Given the description of an element on the screen output the (x, y) to click on. 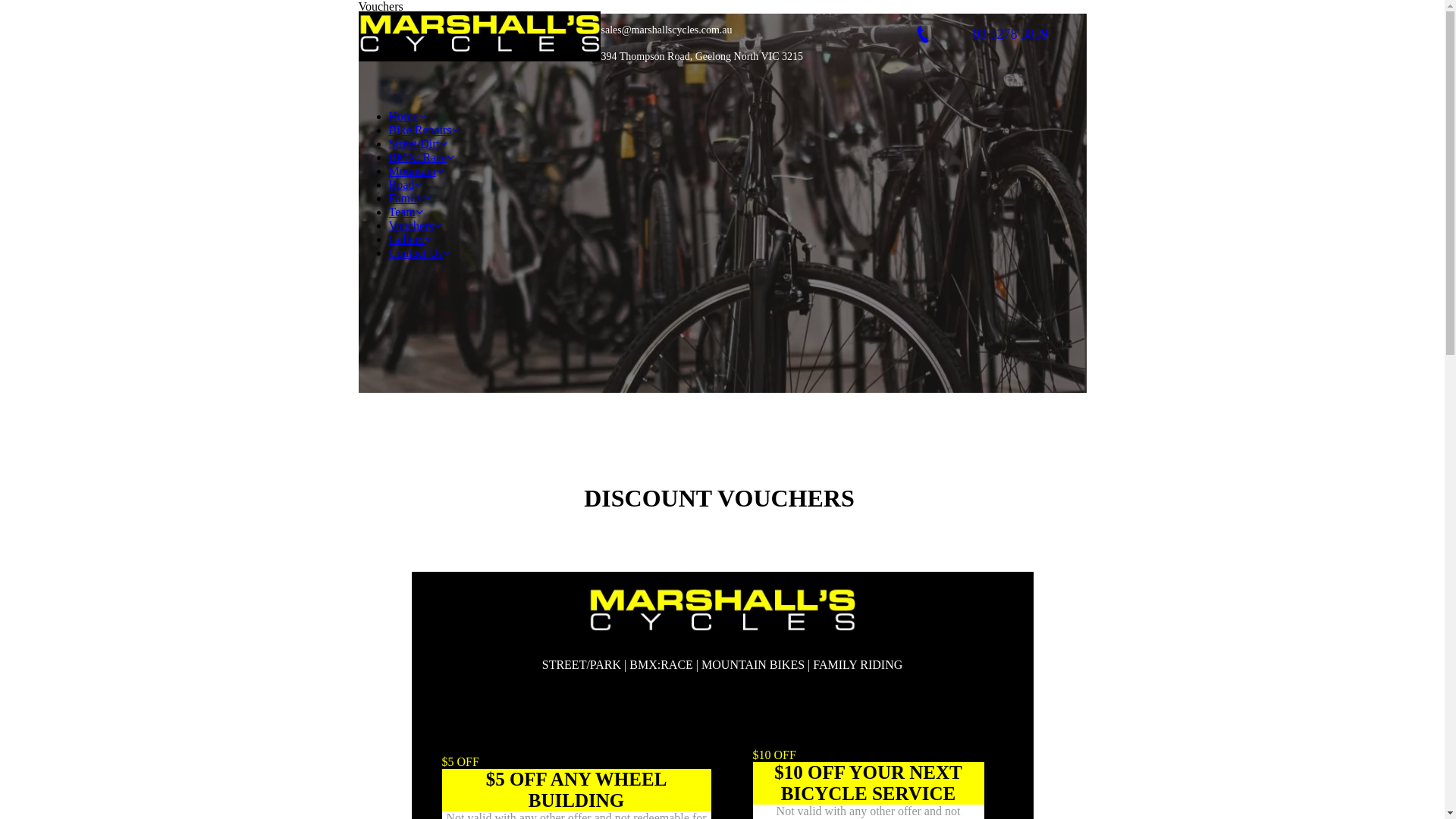
03 5278 3839 Element type: text (994, 34)
Road Element type: text (404, 184)
Team Element type: text (405, 211)
Mountain Element type: text (415, 170)
sales@marshallscycles.com.au Element type: text (665, 29)
Contact Us Element type: text (419, 252)
Street/Dirt Element type: text (417, 143)
Vouchers Element type: text (414, 225)
Home Element type: text (406, 115)
BMX: Race Element type: text (421, 156)
Bike Repairs Element type: text (423, 129)
394 Thompson Road, Geelong North VIC 3215 Element type: text (701, 56)
Gallery Element type: text (410, 238)
Family Element type: text (408, 197)
